Given the description of an element on the screen output the (x, y) to click on. 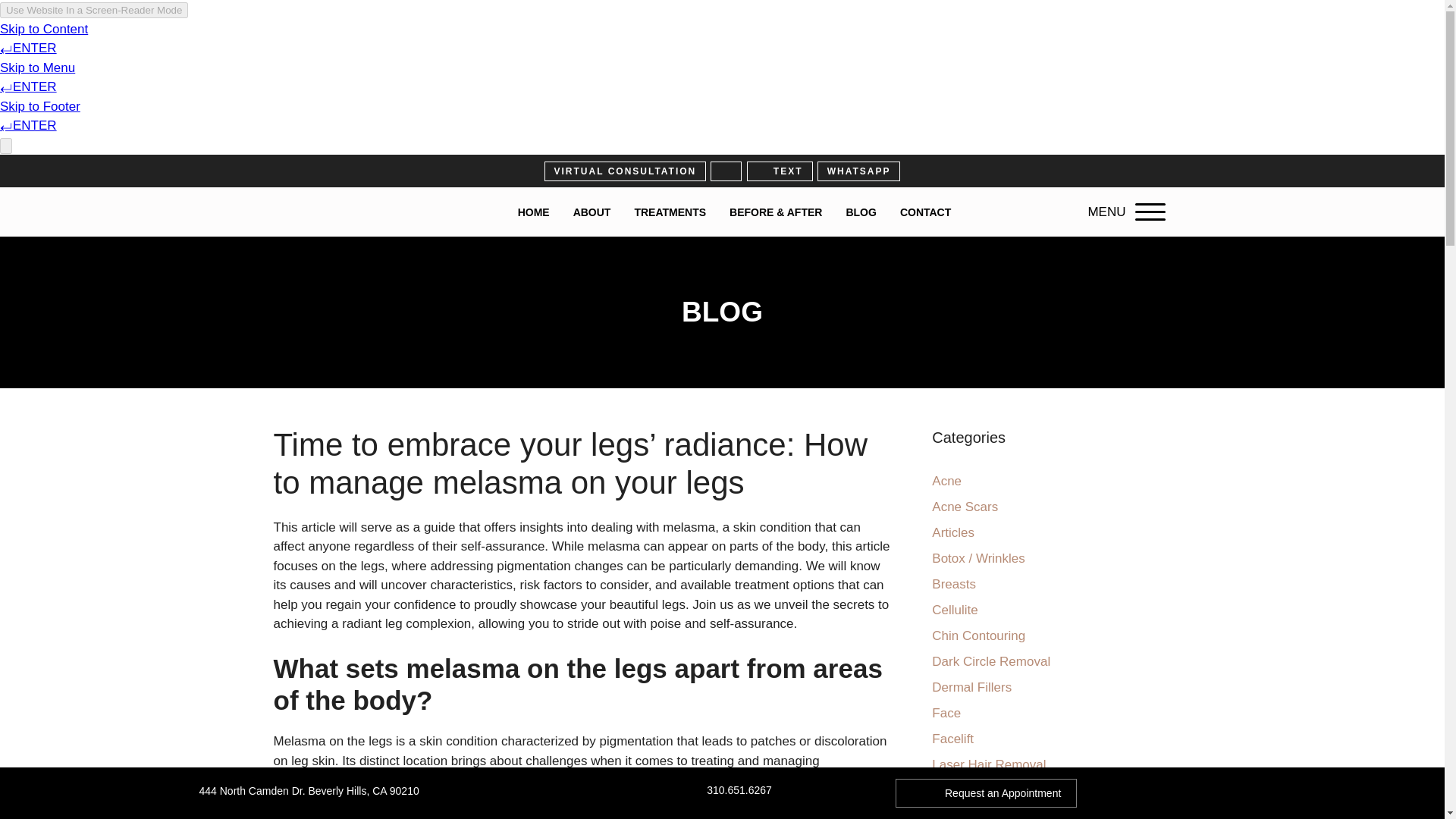
VIRTUAL CONSULTATION (625, 170)
Epione (326, 210)
HOME (533, 212)
ABOUT (592, 212)
BLOG (860, 212)
WHATSAPP (858, 170)
Epione (326, 211)
CONTACT (925, 212)
TEXT (779, 170)
TREATMENTS (670, 212)
